Given the description of an element on the screen output the (x, y) to click on. 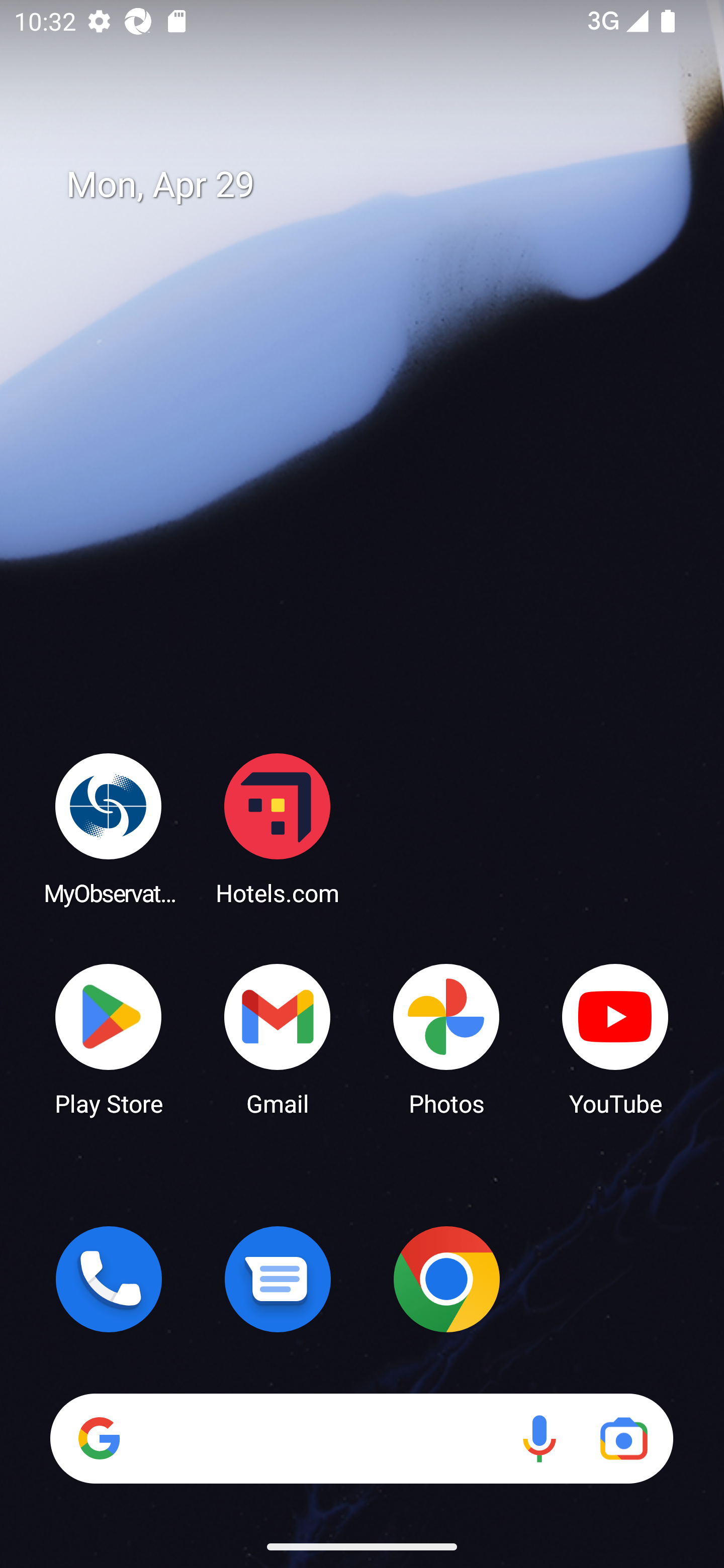
Mon, Apr 29 (375, 184)
MyObservatory (108, 828)
Hotels.com (277, 828)
Play Store (108, 1038)
Gmail (277, 1038)
Photos (445, 1038)
YouTube (615, 1038)
Phone (108, 1279)
Messages (277, 1279)
Chrome (446, 1279)
Search Voice search Google Lens (361, 1438)
Voice search (539, 1438)
Google Lens (623, 1438)
